Given the description of an element on the screen output the (x, y) to click on. 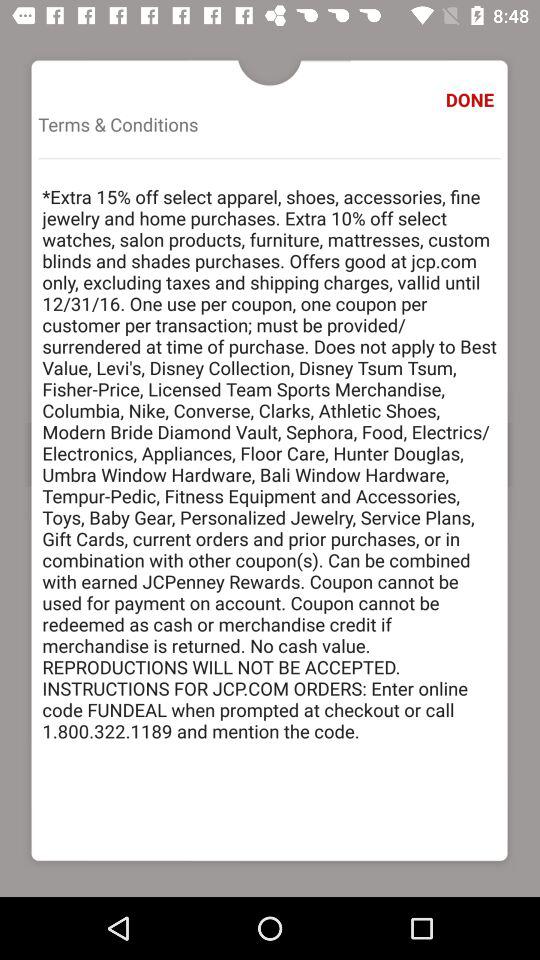
press done (472, 99)
